Given the description of an element on the screen output the (x, y) to click on. 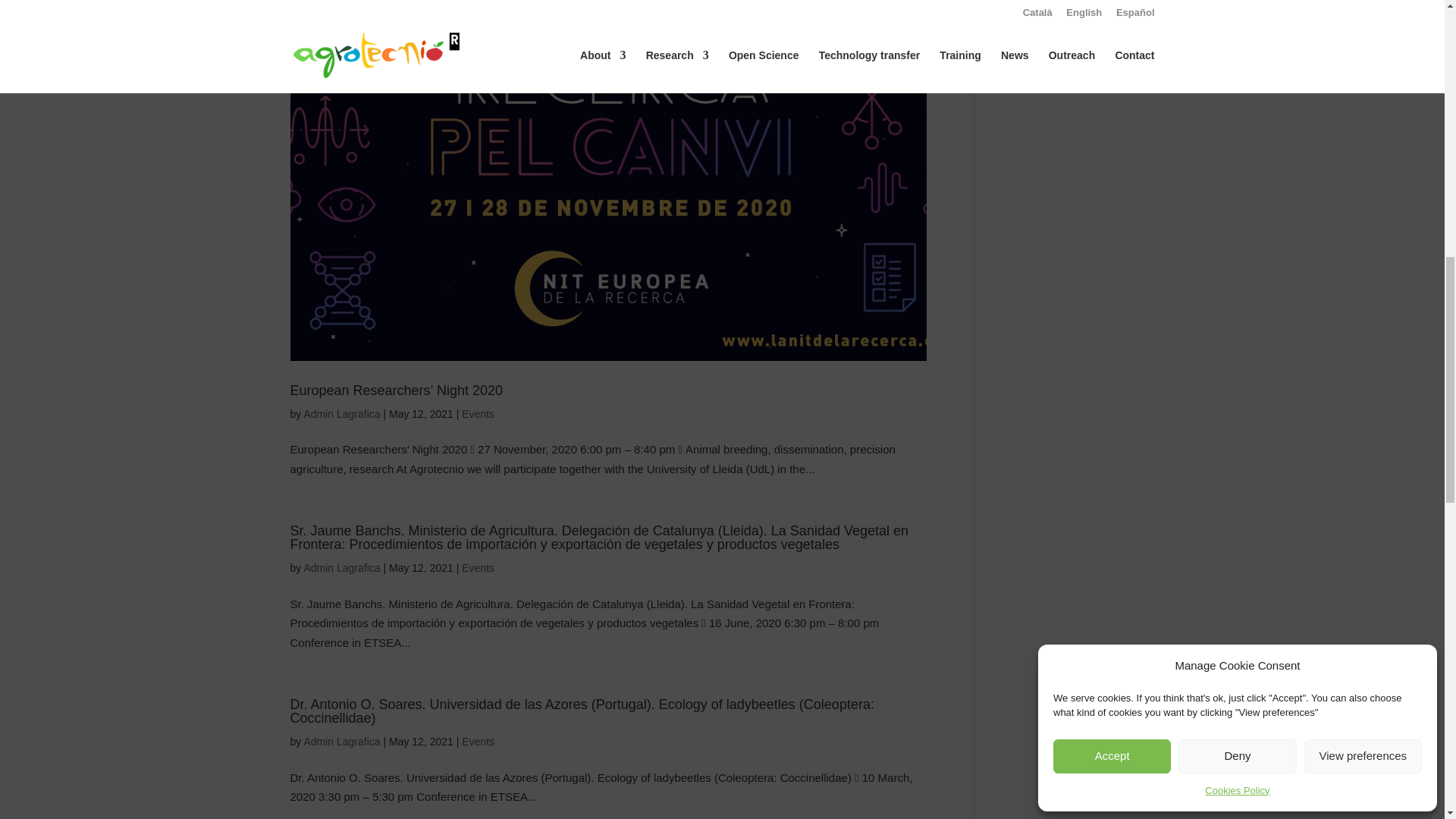
Posts by Admin Lagrafica (341, 413)
Posts by Admin Lagrafica (341, 741)
Posts by Admin Lagrafica (341, 567)
